Given the description of an element on the screen output the (x, y) to click on. 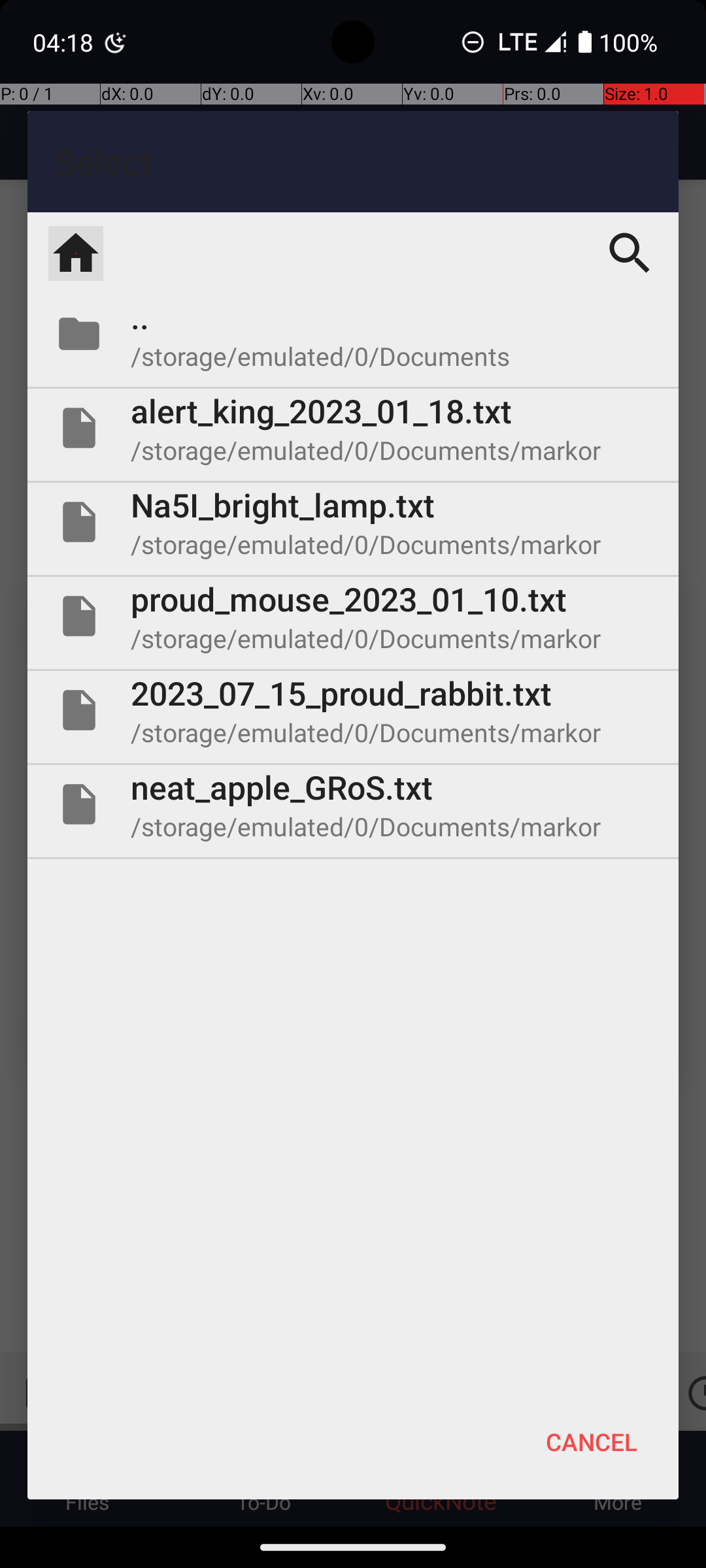
Select Element type: android.widget.TextView (352, 161)
File alert_king_2023_01_18.txt  Element type: android.widget.LinearLayout (352, 427)
File Na5I_bright_lamp.txt  Element type: android.widget.LinearLayout (352, 521)
File proud_mouse_2023_01_10.txt  Element type: android.widget.LinearLayout (352, 615)
File 2023_07_15_proud_rabbit.txt  Element type: android.widget.LinearLayout (352, 709)
File neat_apple_GRoS.txt  Element type: android.widget.LinearLayout (352, 804)
04:18 Element type: android.widget.TextView (64, 41)
Digital Wellbeing notification: Bedtime mode is on Element type: android.widget.ImageView (115, 41)
